Given the description of an element on the screen output the (x, y) to click on. 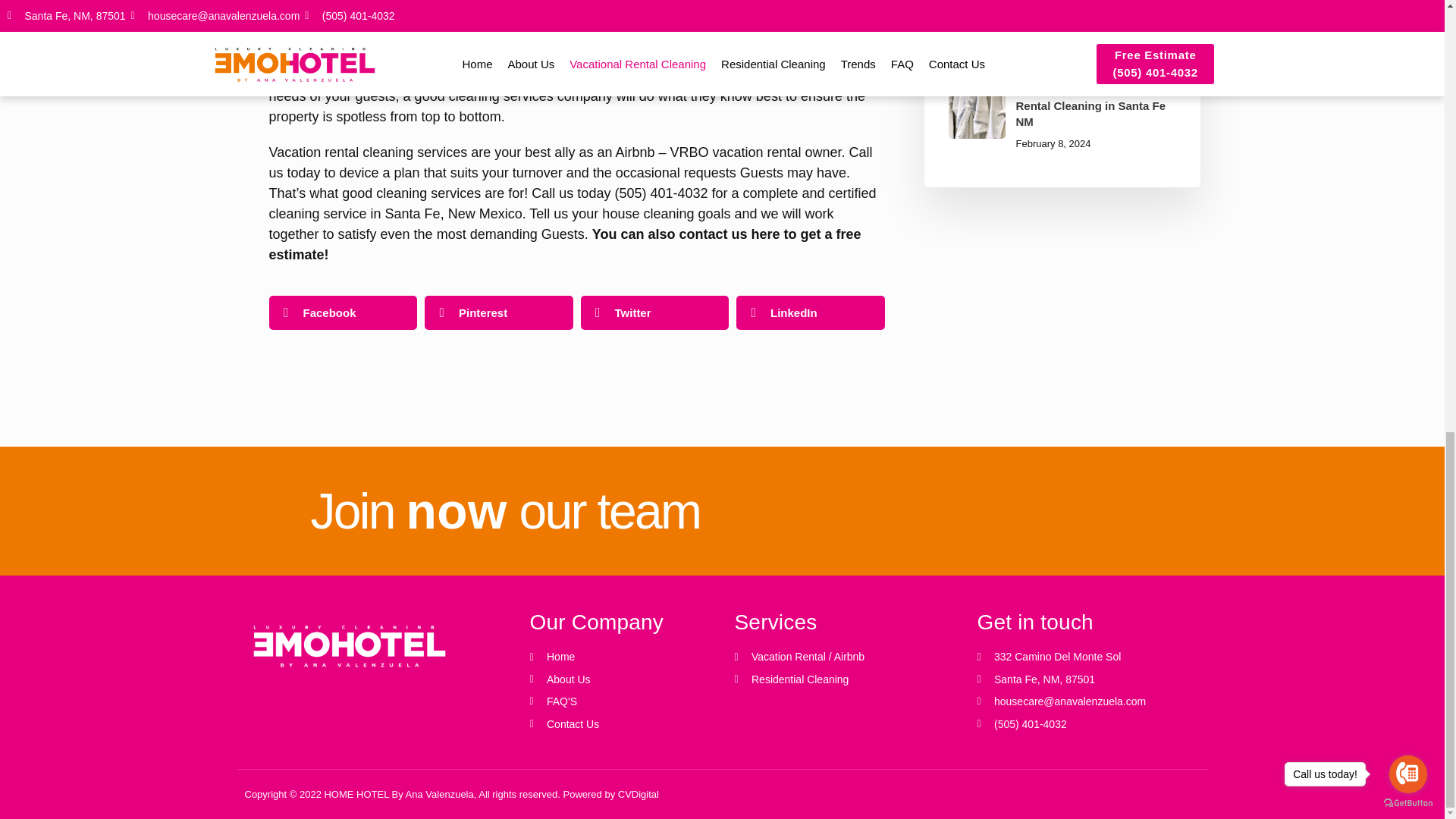
Services (842, 622)
You can also contact us here to get a free estimate (575, 312)
Our Company (563, 244)
Join now our team (619, 622)
Get in touch (619, 690)
